Given the description of an element on the screen output the (x, y) to click on. 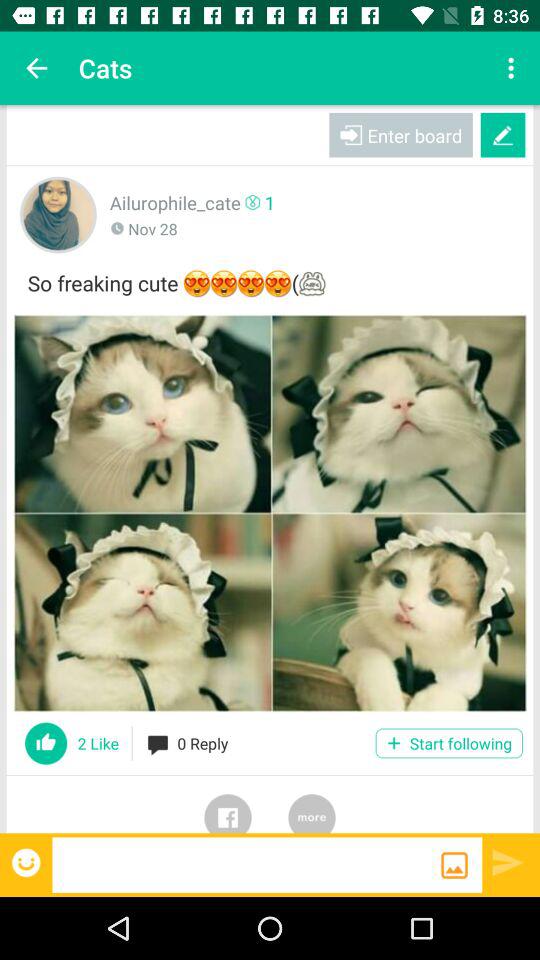
tap the start following (448, 743)
